Given the description of an element on the screen output the (x, y) to click on. 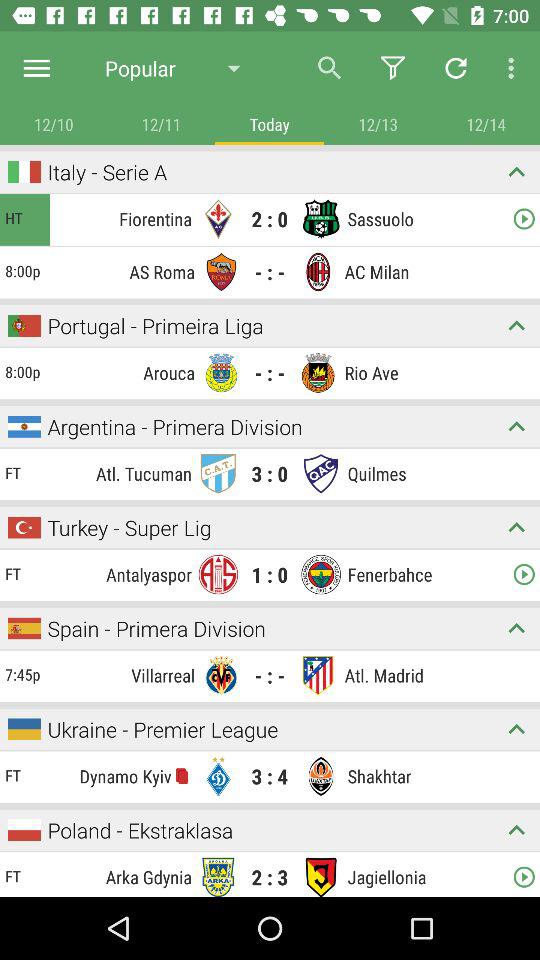
menu (516, 728)
